Given the description of an element on the screen output the (x, y) to click on. 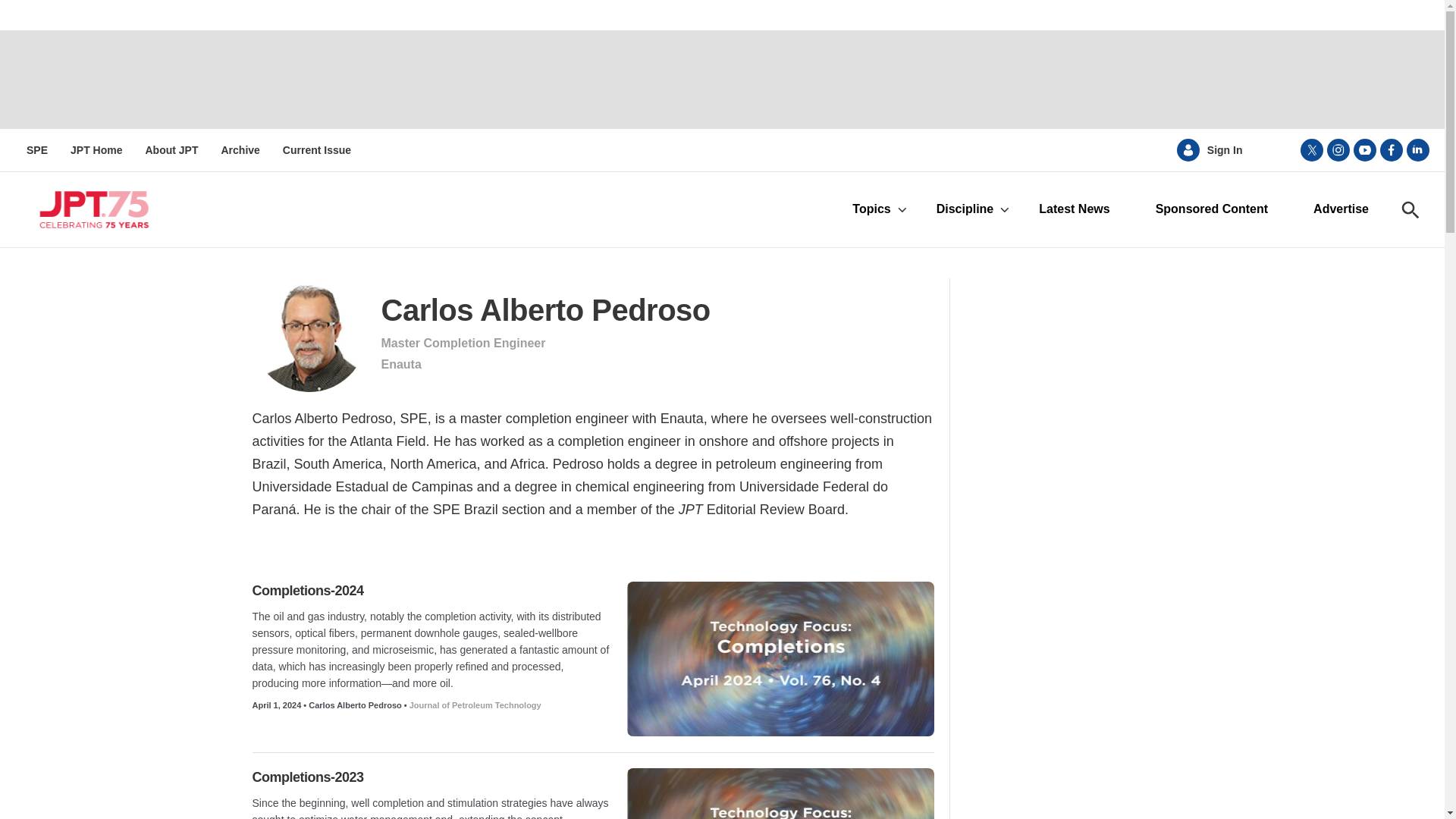
Archive (240, 150)
JPT Home (95, 150)
Sign In (1225, 150)
twitter (1311, 149)
Current Issue (316, 150)
youtube (1364, 149)
About JPT (171, 150)
facebook (1391, 149)
linkedin (1417, 149)
3rd party ad content (721, 79)
SPE (37, 150)
instagram (1337, 149)
